Given the description of an element on the screen output the (x, y) to click on. 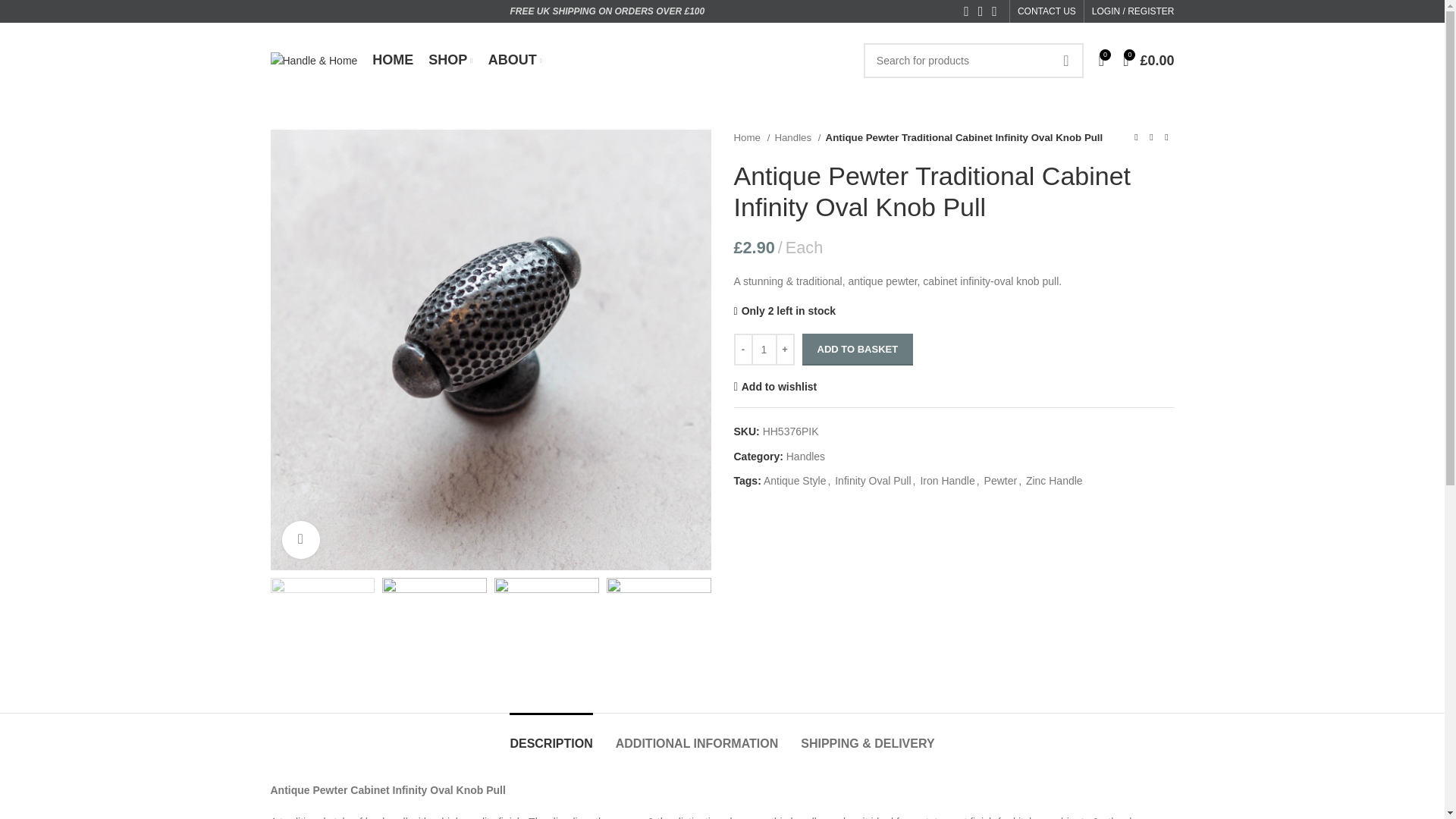
My account (1133, 13)
Search for products (973, 60)
CONTACT US (1046, 11)
SHOP (449, 60)
HOME (392, 60)
Shopping cart (1147, 60)
